Given the description of an element on the screen output the (x, y) to click on. 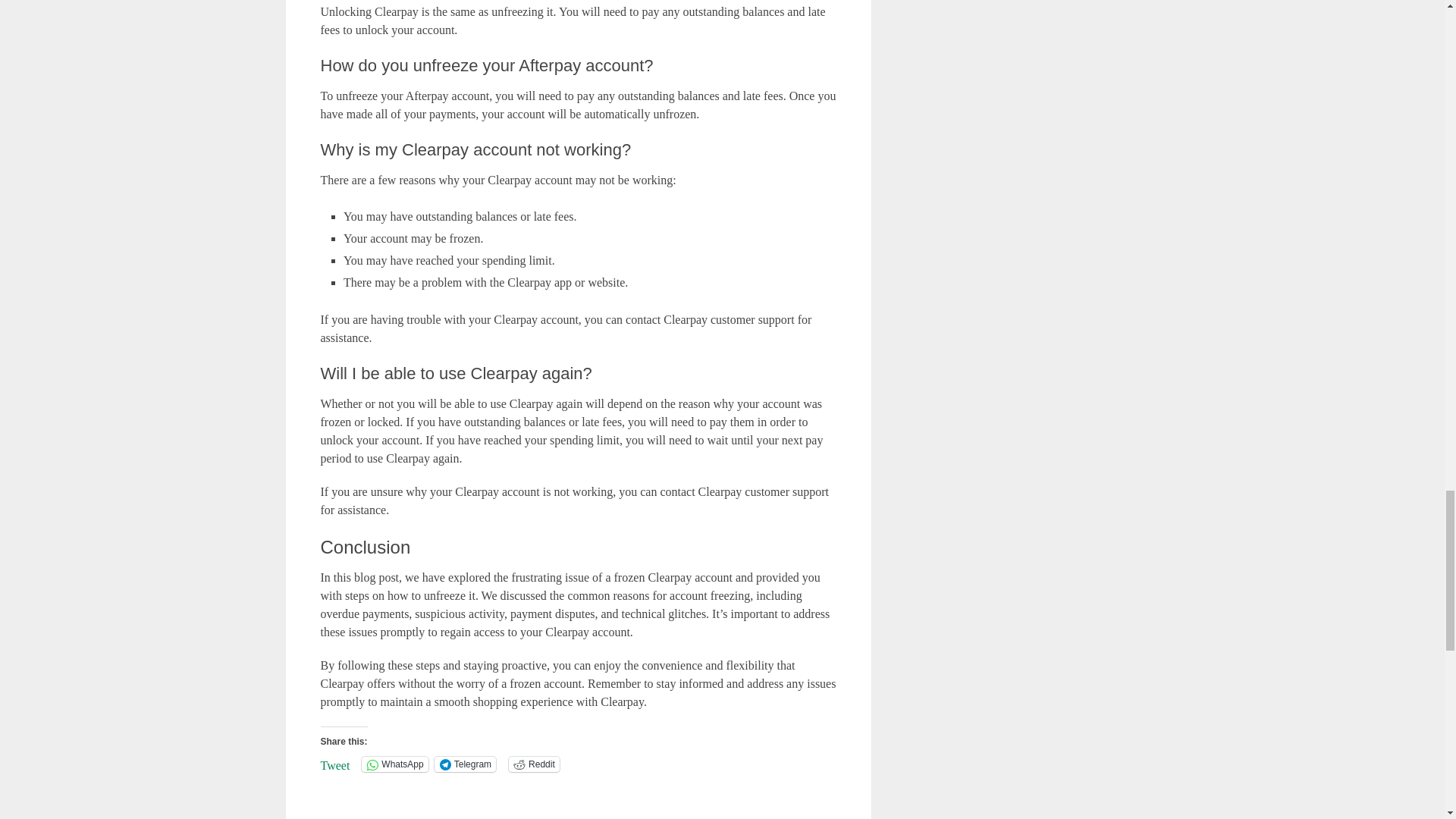
Click to share on Reddit (533, 764)
Click to share on WhatsApp (394, 764)
WhatsApp (394, 764)
Tweet (334, 763)
Click to share on Telegram (464, 764)
Reddit (533, 764)
Telegram (464, 764)
